Given the description of an element on the screen output the (x, y) to click on. 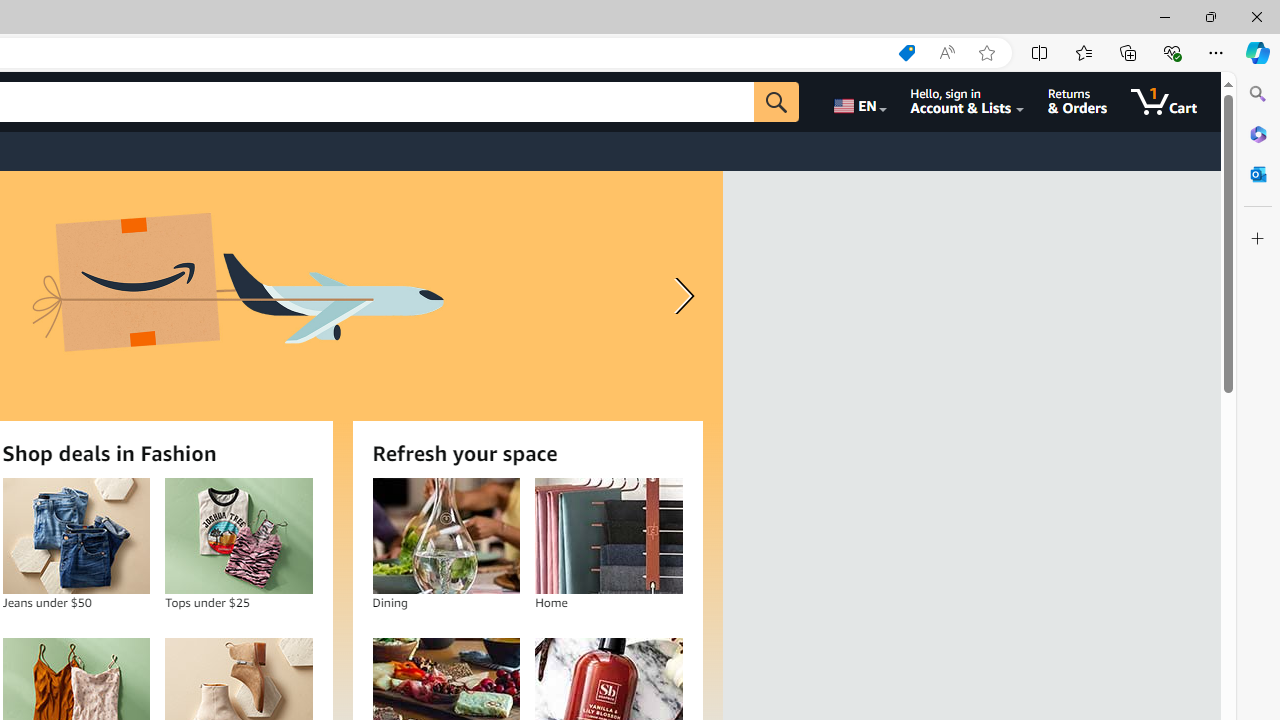
Shopping in Microsoft Edge (906, 53)
Outlook (1258, 174)
Returns & Orders (1077, 101)
1 item in cart (1163, 101)
Jeans under $50 (75, 536)
Tops under $25 (238, 536)
Hello, sign in Account & Lists (967, 101)
Dining (445, 536)
